Given the description of an element on the screen output the (x, y) to click on. 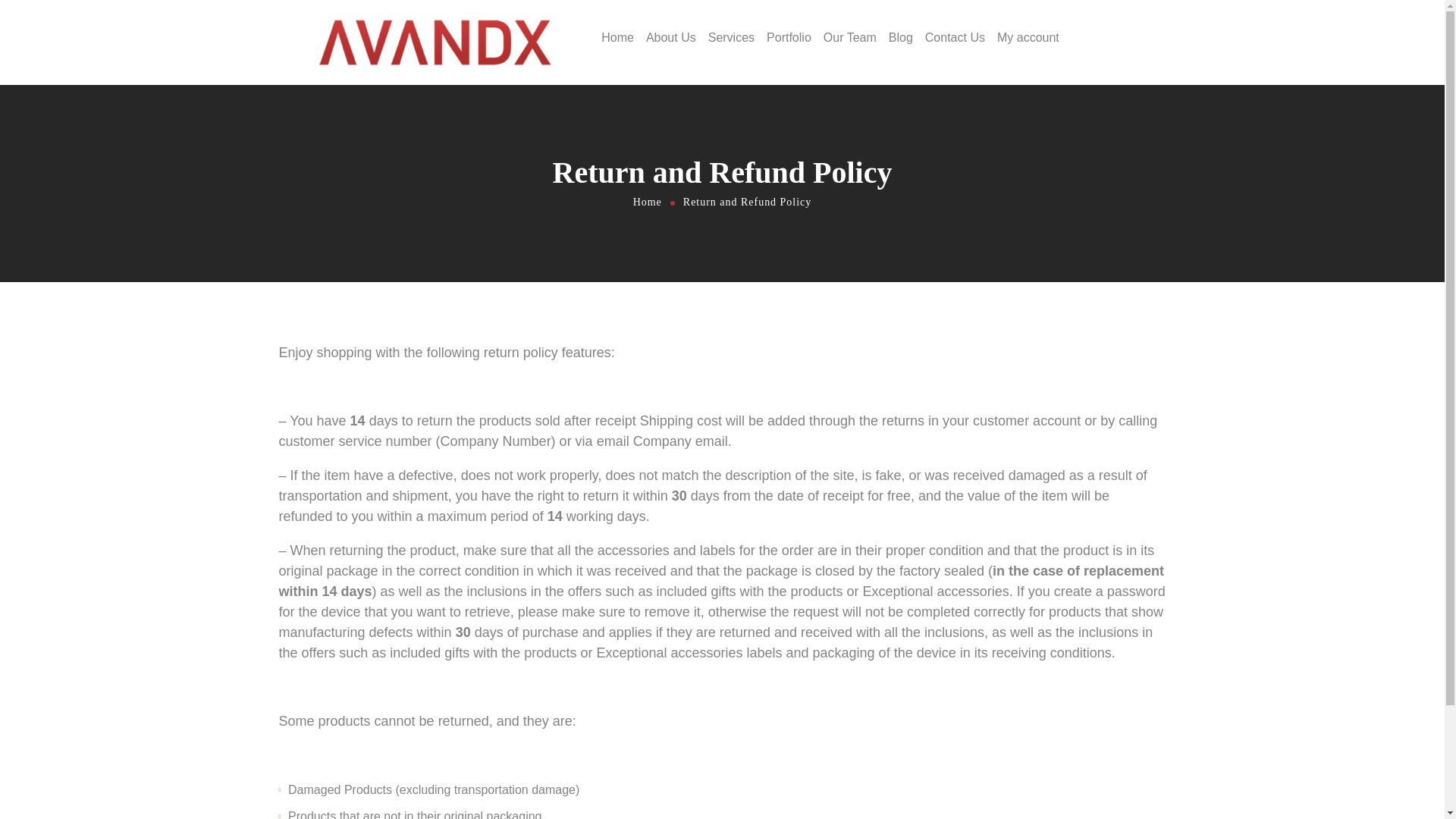
logo (433, 41)
Contact Us (954, 37)
Home (646, 202)
My account (1028, 37)
